Given the description of an element on the screen output the (x, y) to click on. 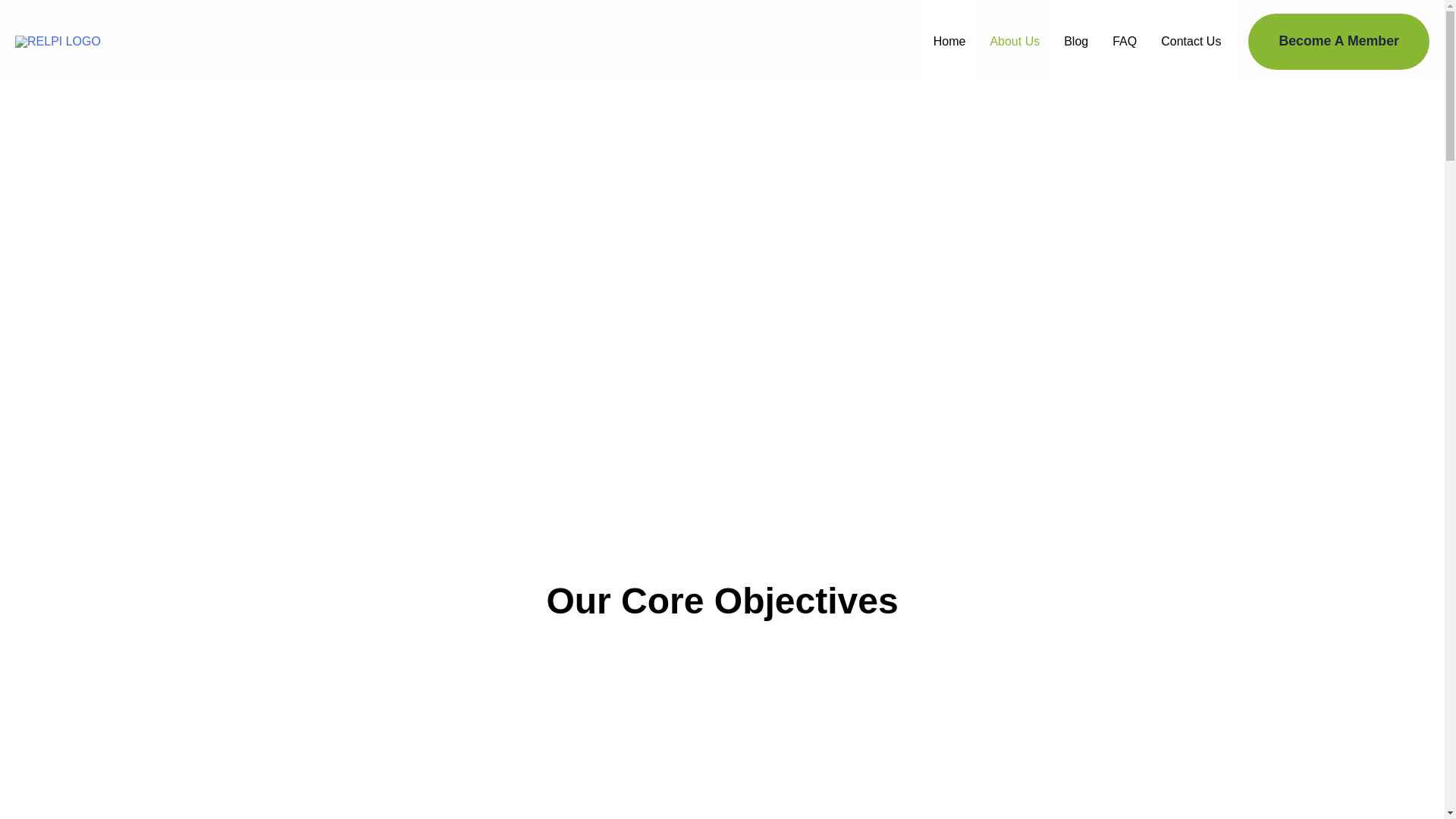
Contact Us (1190, 41)
Become A Member (1338, 40)
About Us (1013, 41)
